Given the description of an element on the screen output the (x, y) to click on. 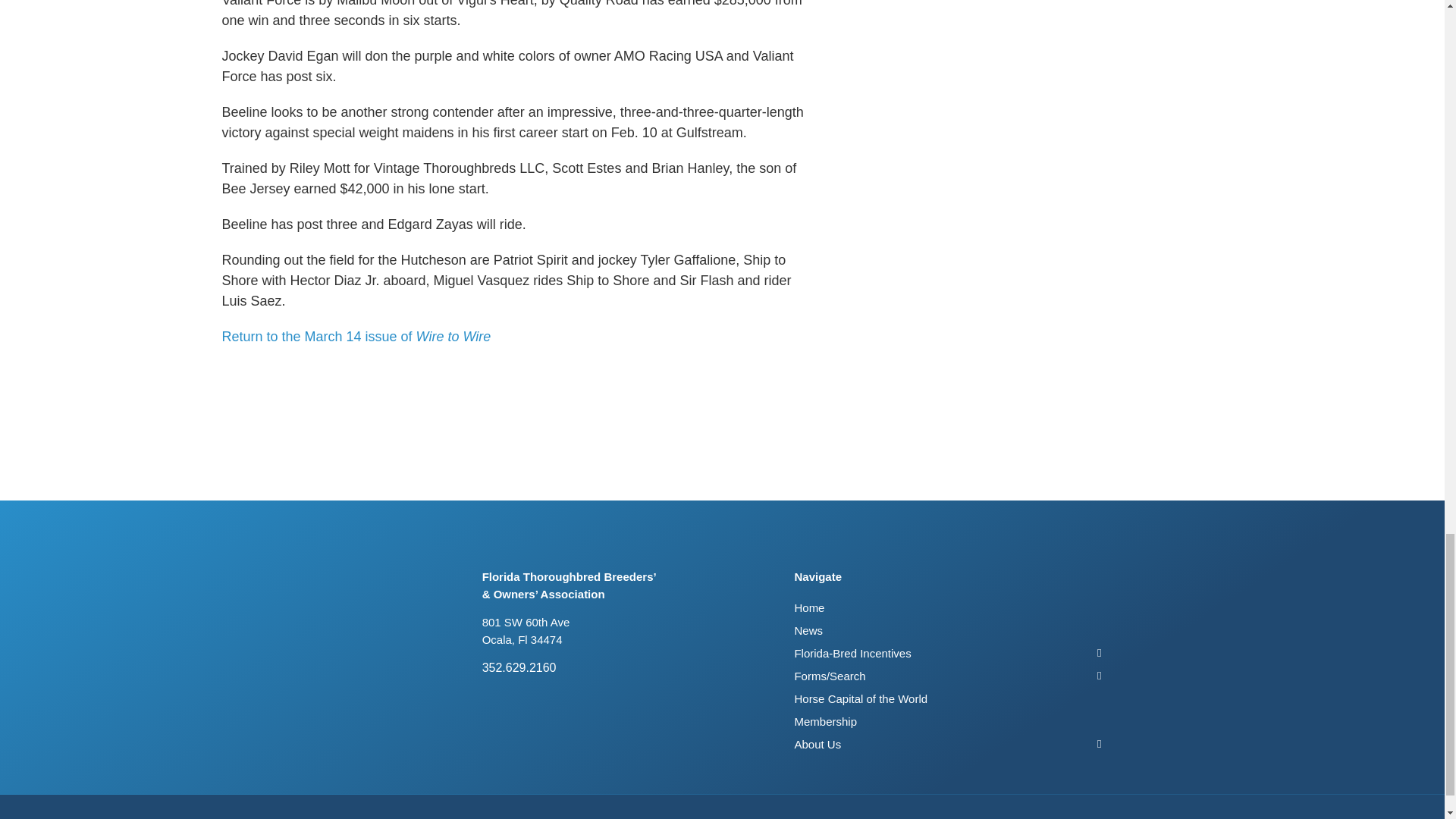
FTBOA Logo White Text Outline2 (296, 590)
Return to the March 14 issue of Wire to Wire (355, 336)
352.629.2160 (617, 668)
